Given the description of an element on the screen output the (x, y) to click on. 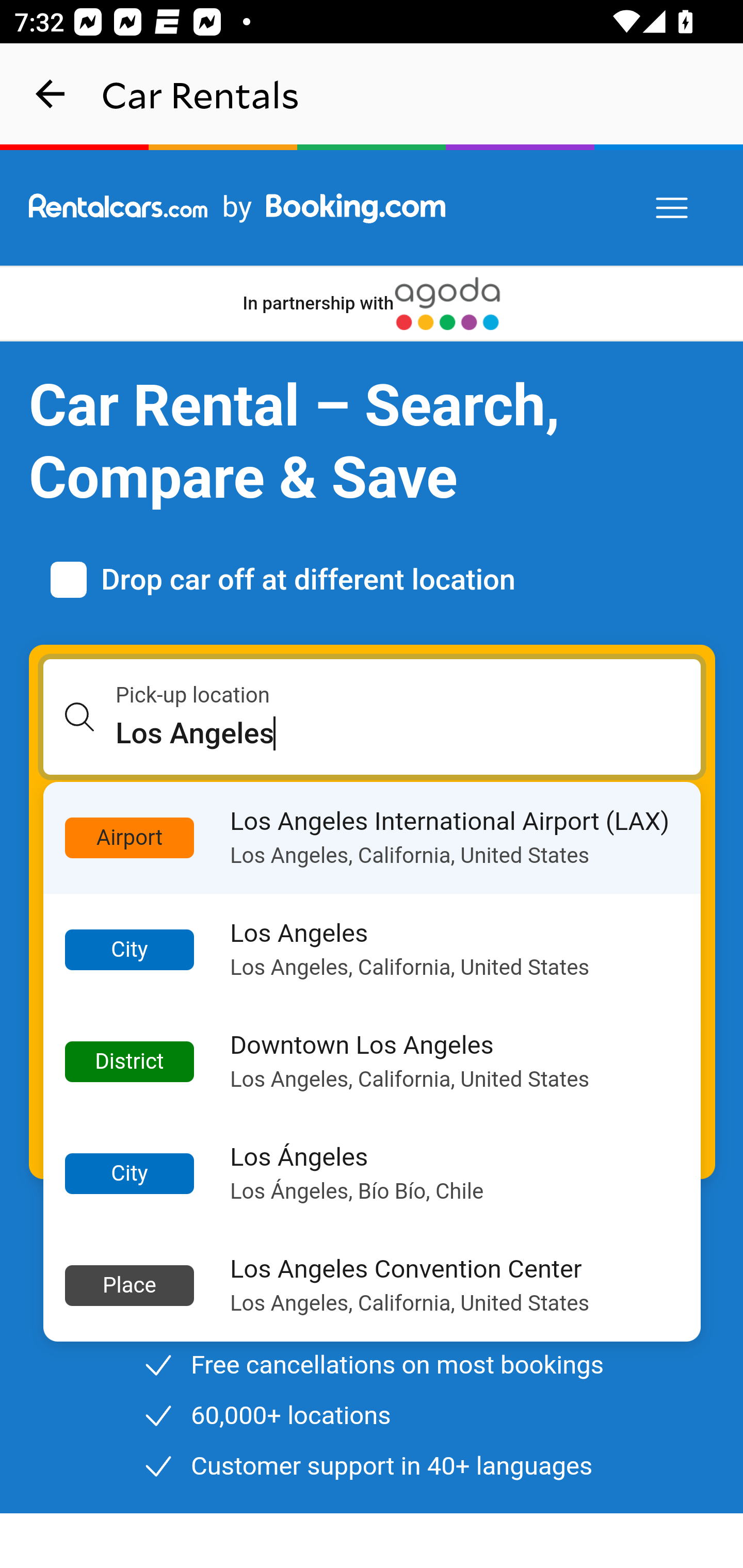
navigation_button (50, 93)
Menu (672, 208)
Pick-up location Los Angeles (372, 717)
Los Angeles (408, 733)
